Given the description of an element on the screen output the (x, y) to click on. 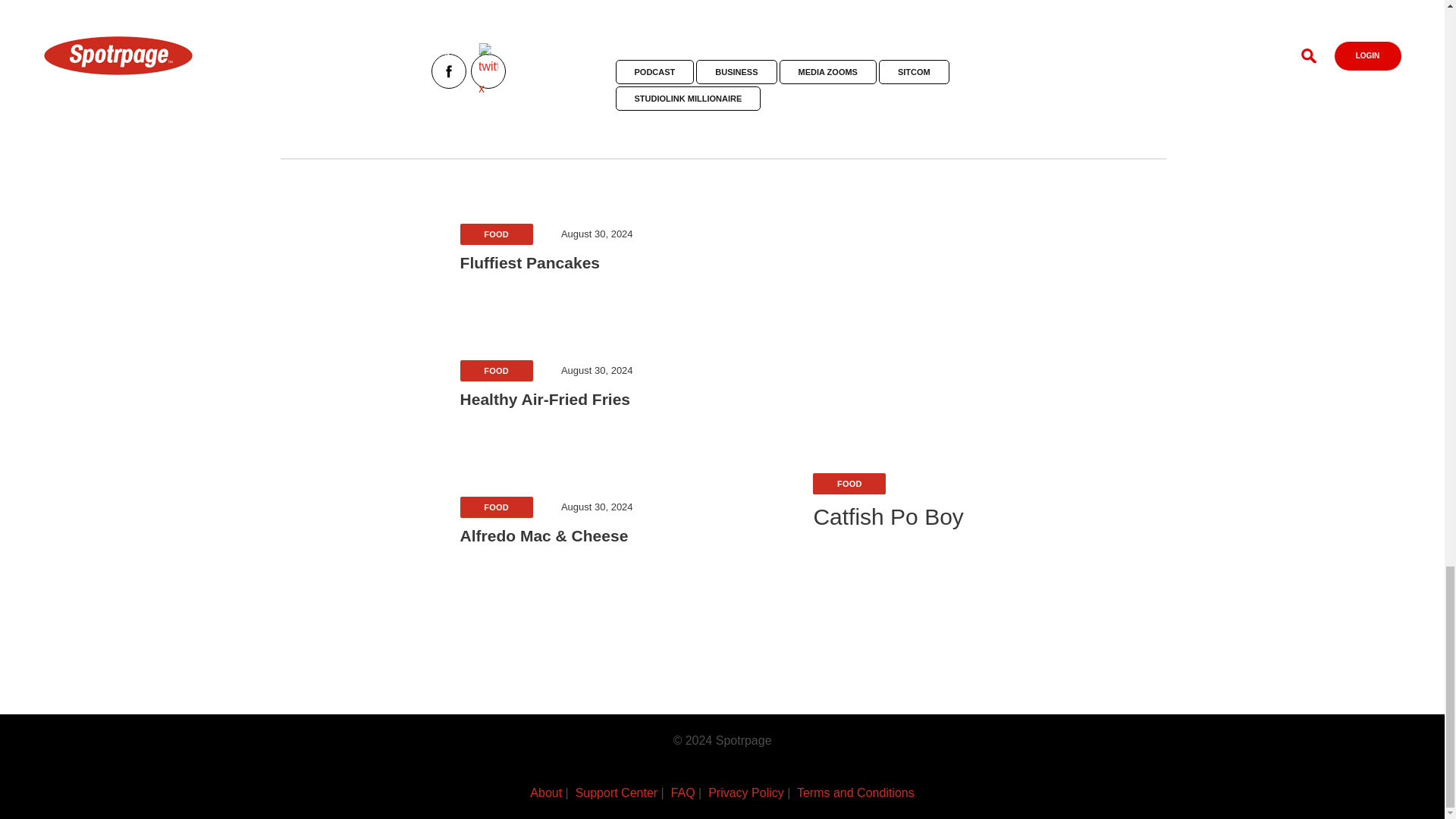
Terms and Conditions (855, 792)
FOOD (496, 233)
SITCOM (914, 71)
Support Center (616, 792)
Healthy Air-Fried Fries (546, 399)
FOOD (496, 369)
FAQ (683, 792)
Privacy Policy (745, 792)
Fluffiest Pancakes (546, 262)
BUSINESS (735, 71)
